Given the description of an element on the screen output the (x, y) to click on. 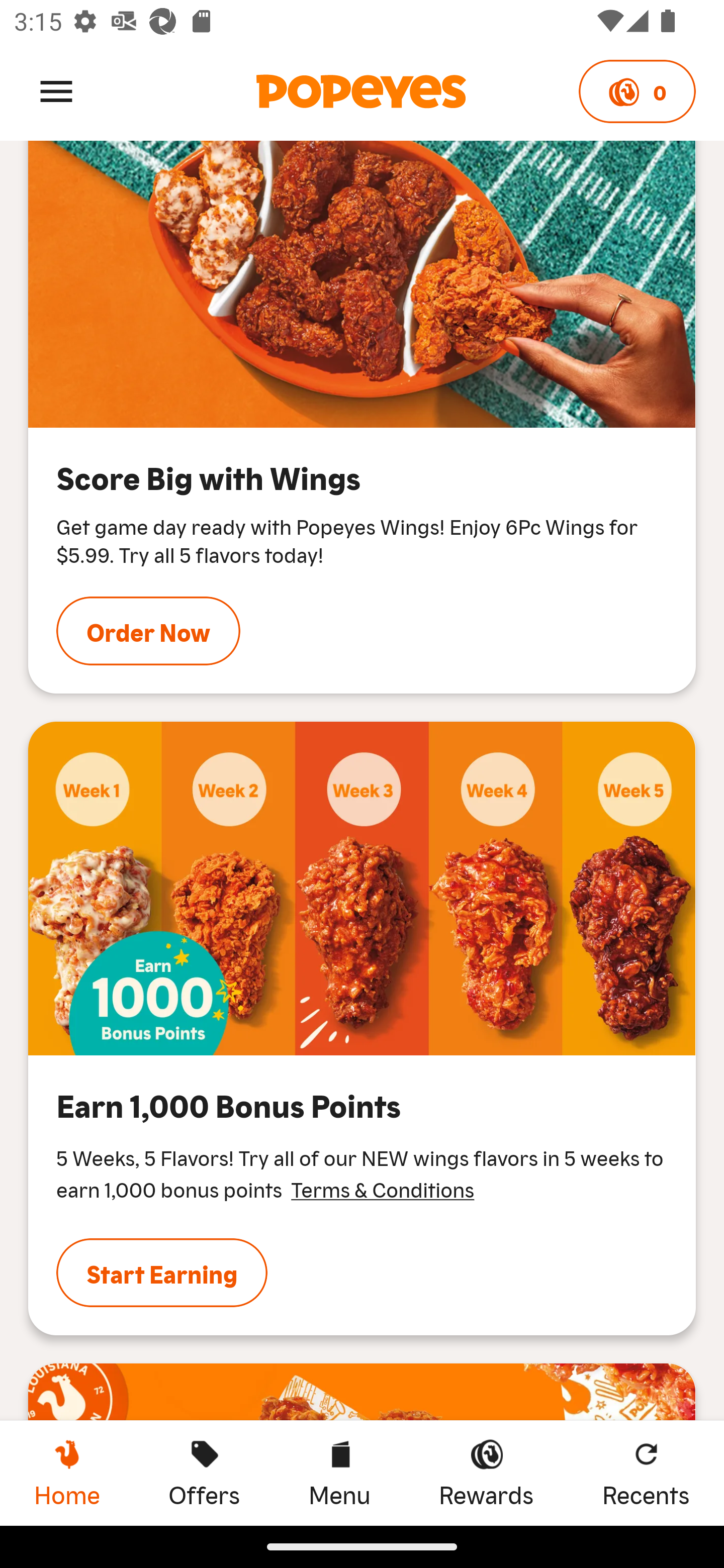
Menu  (56, 90)
0 Points 0 (636, 91)
Score Big with Wings (361, 284)
Order Now (148, 629)
Earn 1,000 Bonus Points (361, 888)
Start Earning (161, 1272)
Home, current page Home Home, current page (66, 1472)
Offers Offers Offers (203, 1472)
Menu Menu Menu (339, 1472)
Rewards Rewards Rewards (486, 1472)
Recents Recents Recents (646, 1472)
